Given the description of an element on the screen output the (x, y) to click on. 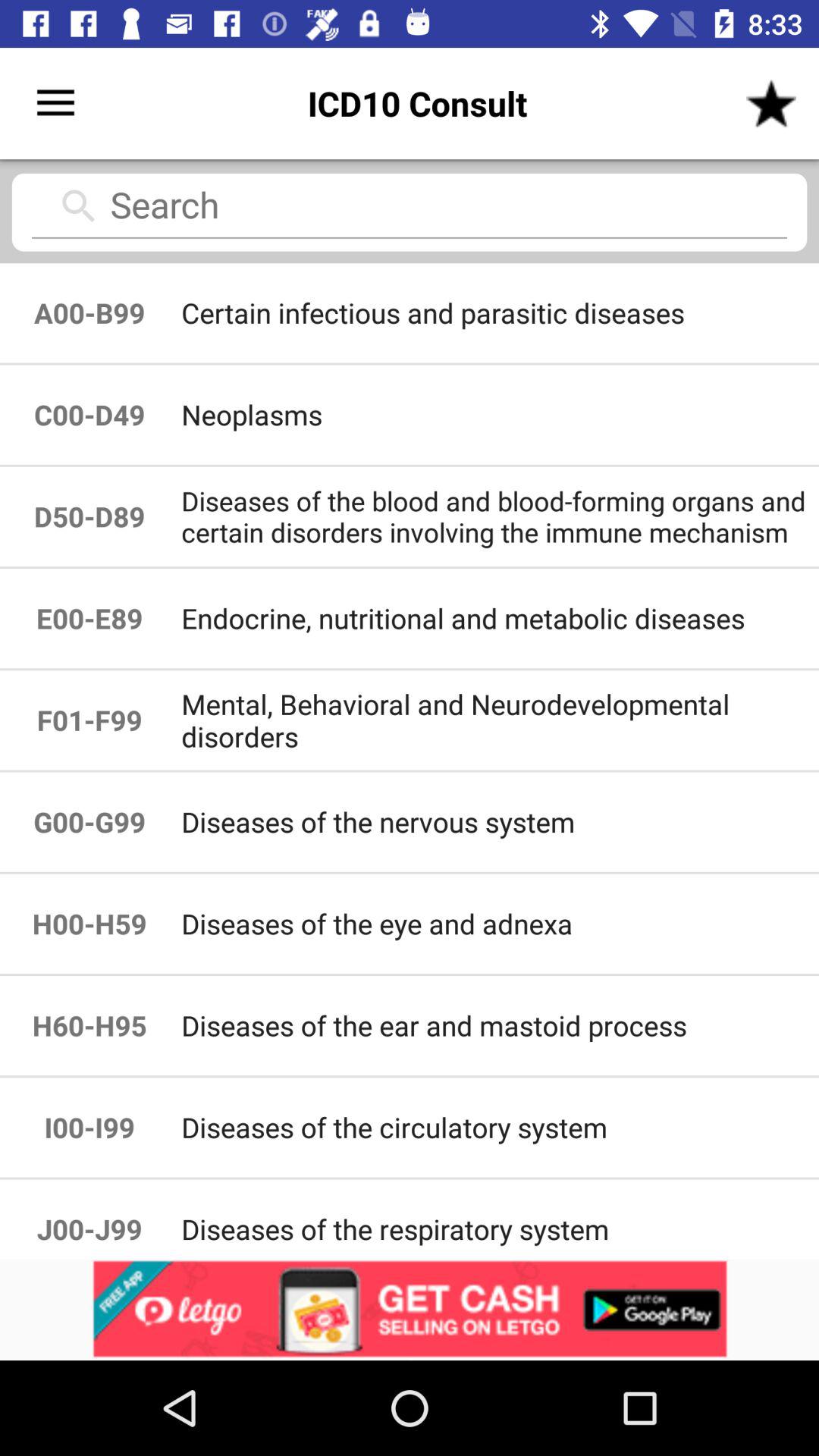
turn on the icon to the left of the certain infectious and (89, 312)
